Given the description of an element on the screen output the (x, y) to click on. 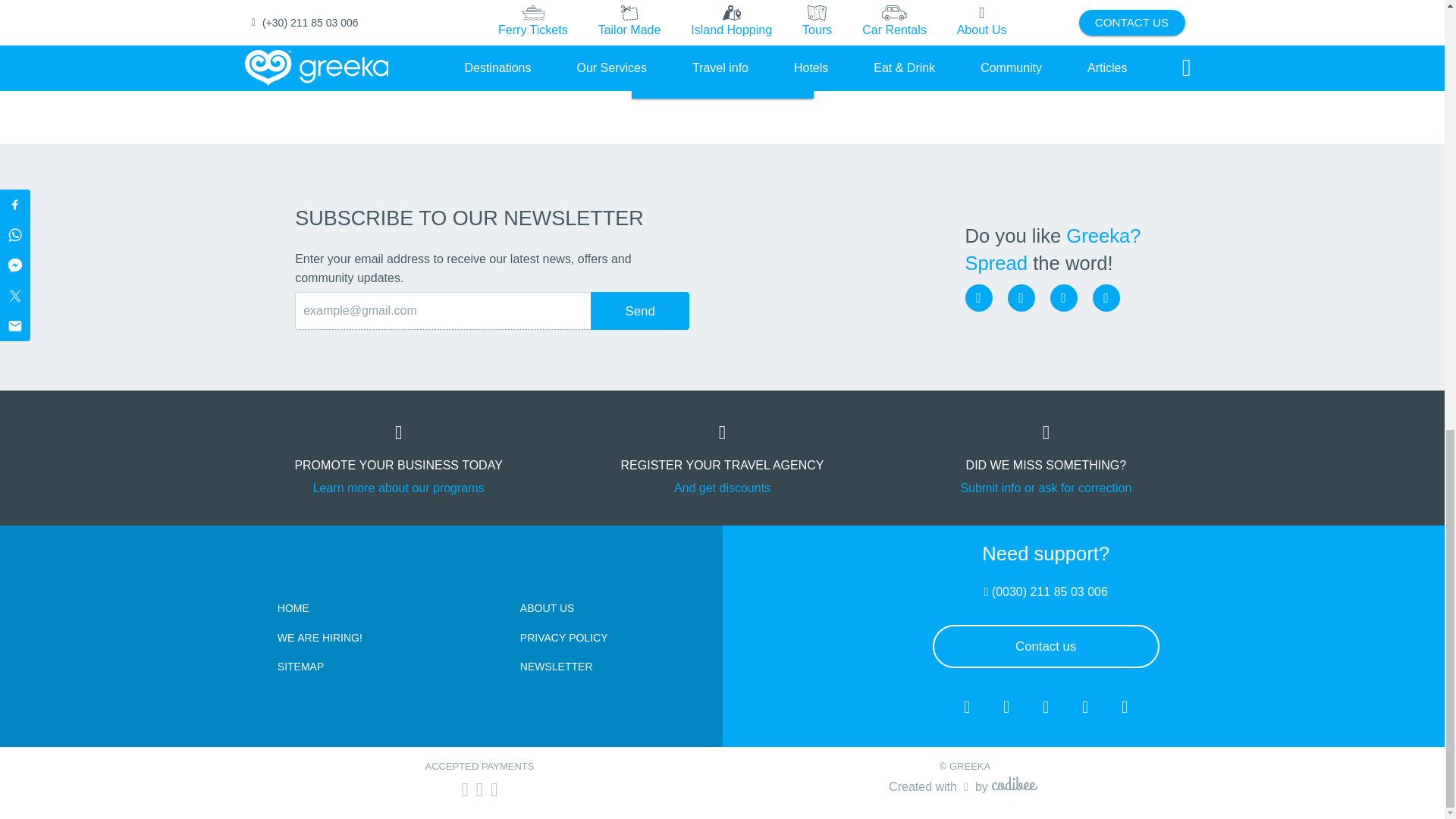
Send (639, 310)
ASK THE COMMUNITY (721, 77)
Instagram (1020, 298)
Send (639, 310)
Facebook (977, 298)
